Given the description of an element on the screen output the (x, y) to click on. 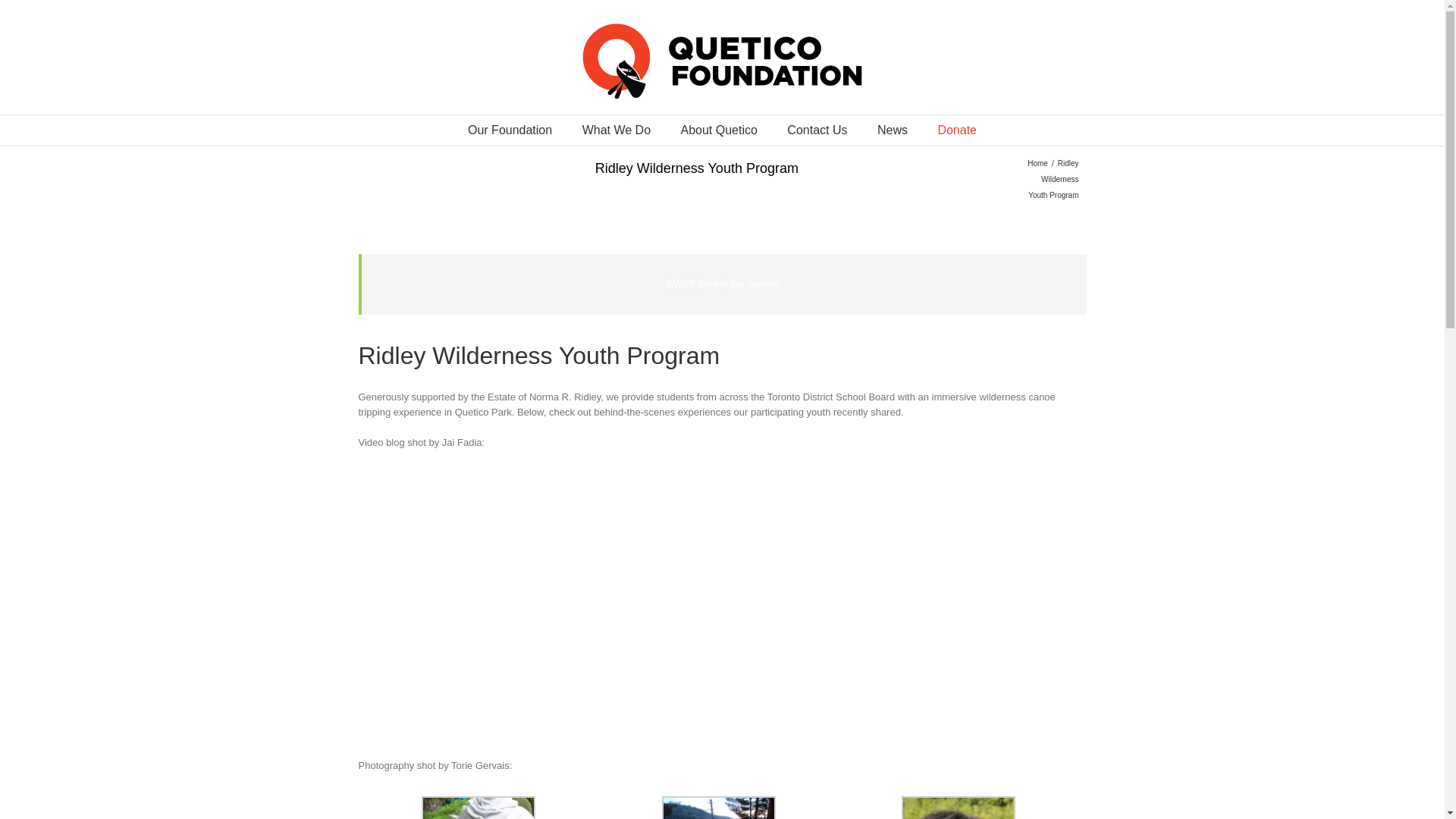
Donate (956, 130)
News (892, 130)
Home (1039, 162)
What We Do (616, 130)
Our Foundation (509, 130)
About Quetico (718, 130)
Contact Us (817, 130)
